Given the description of an element on the screen output the (x, y) to click on. 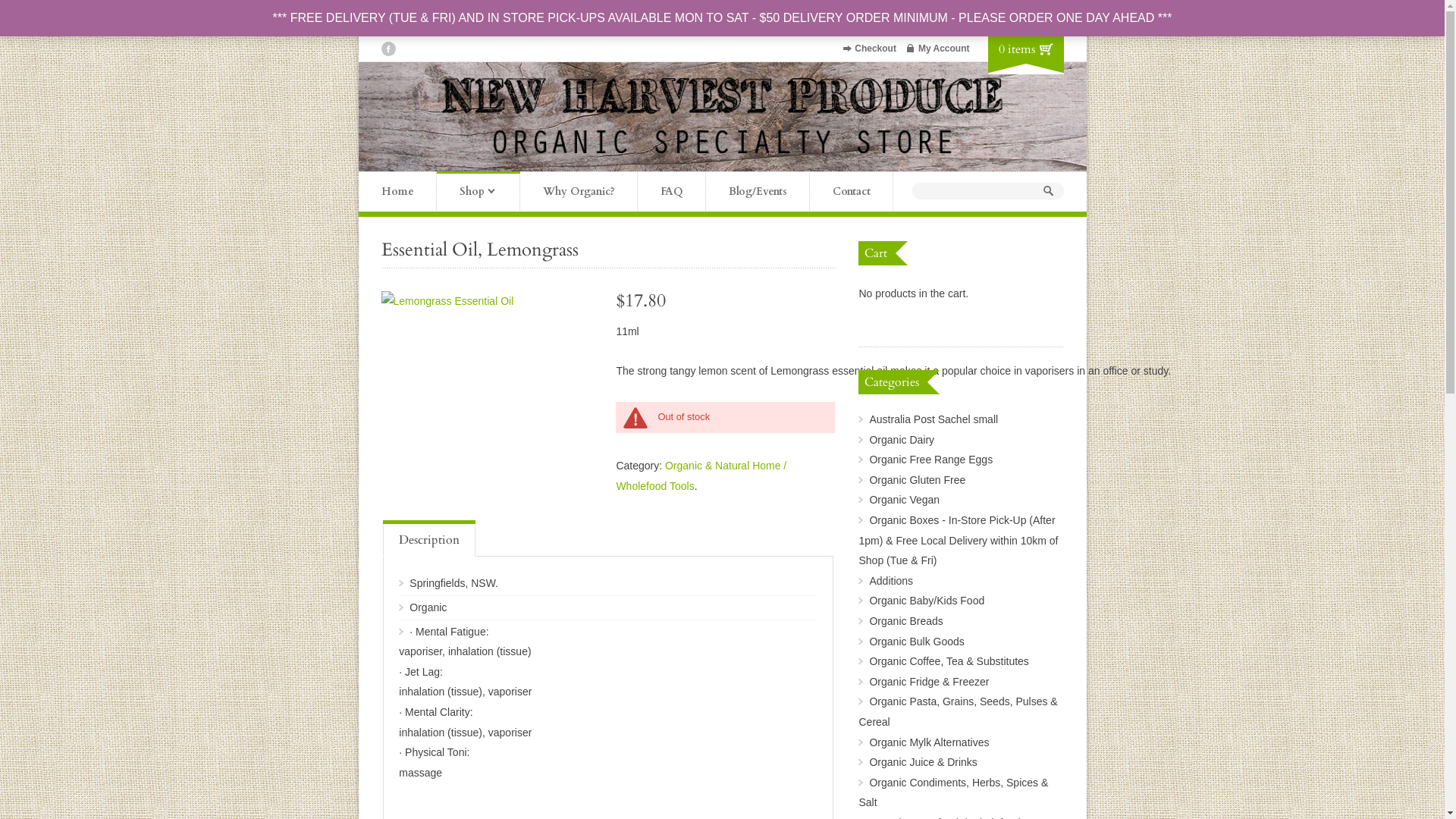
Organic Vegan Element type: text (904, 499)
0 items Element type: text (1015, 48)
FAQ Element type: text (671, 191)
Organic Pasta, Grains, Seeds, Pulses & Cereal Element type: text (957, 711)
Organic Baby/Kids Food Element type: text (926, 600)
Organic & Natural Home / Wholefood Tools Element type: text (700, 475)
Blog/Events Element type: text (757, 191)
Organic Coffee, Tea & Substitutes Element type: text (948, 661)
Organic Fridge & Freezer Element type: text (928, 681)
Home Element type: text (396, 191)
Additions Element type: text (891, 580)
Organic Free Range Eggs Element type: text (930, 459)
Contact Element type: text (851, 191)
Organic Condiments, Herbs, Spices & Salt Element type: text (953, 792)
Organic Bulk Goods Element type: text (916, 641)
Lemongrass Essential Oil Element type: hover (489, 301)
Organic Juice & Drinks Element type: text (922, 762)
Description Element type: text (428, 539)
Checkout Element type: text (875, 48)
My Account Element type: text (943, 48)
Organic Mylk Alternatives Element type: text (928, 741)
Australia Post Sachel small Element type: text (933, 419)
Organic Gluten Free Element type: text (917, 479)
Why Organic? Element type: text (578, 191)
ORGANIC shop Element type: text (721, 154)
Organic Dairy Element type: text (901, 439)
Organic Breads Element type: text (905, 621)
